Given the description of an element on the screen output the (x, y) to click on. 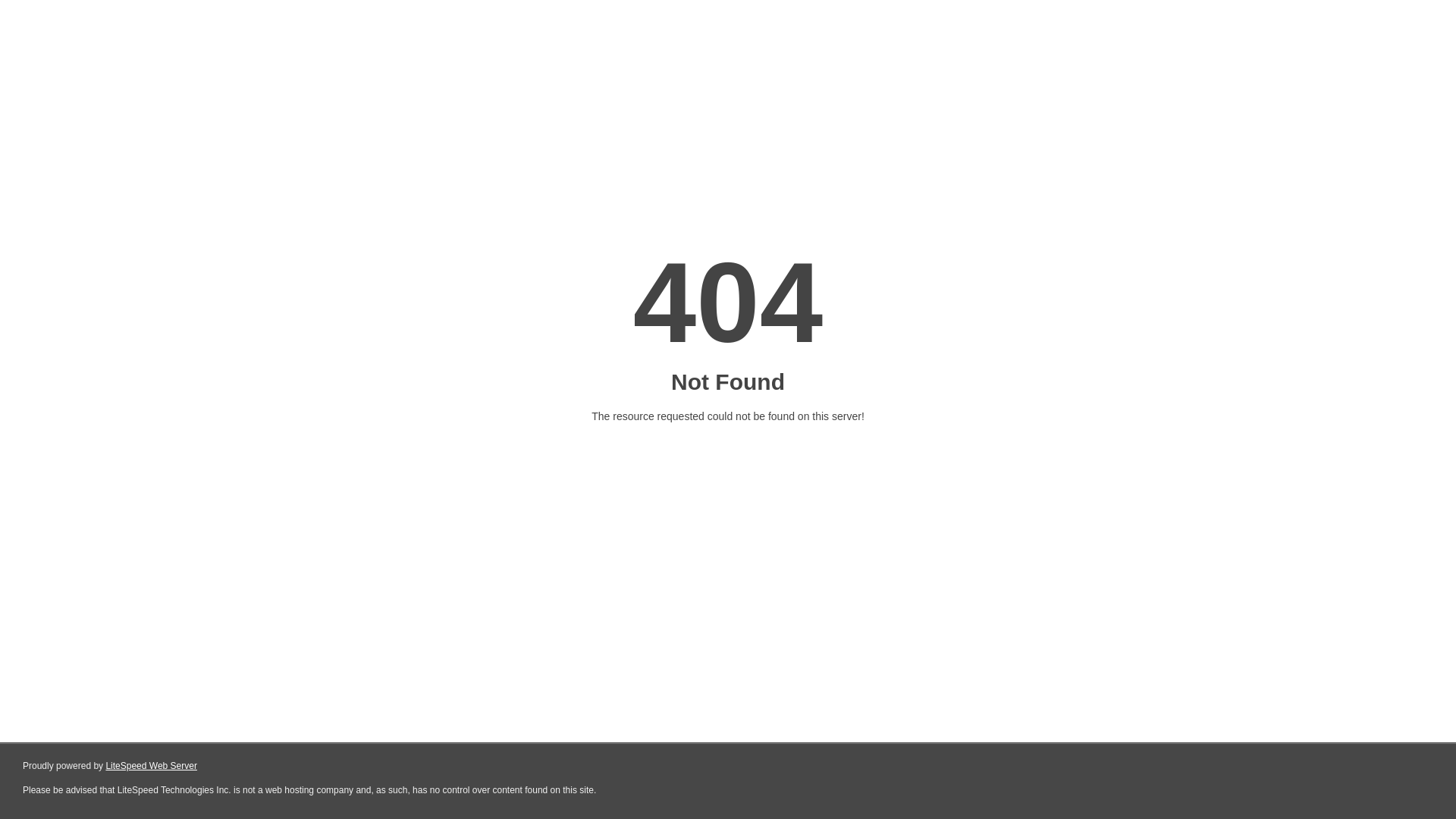
LiteSpeed Web Server Element type: text (151, 765)
